Given the description of an element on the screen output the (x, y) to click on. 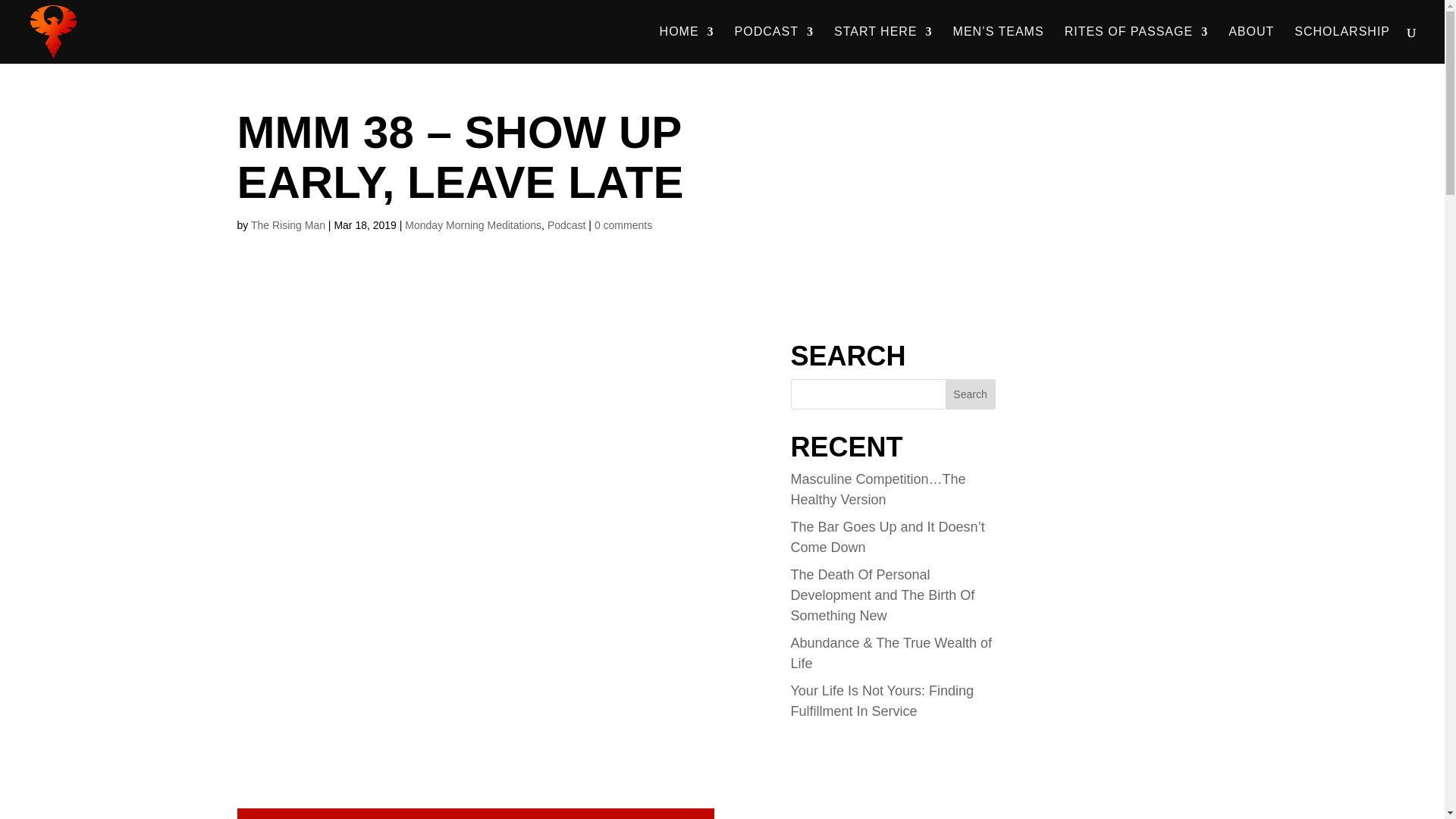
RITES OF PASSAGE (1136, 44)
Search (969, 394)
ABOUT (1251, 44)
Posts by The Rising Man (287, 224)
Search (969, 394)
SCHOLARSHIP (1342, 44)
HOME (686, 44)
Your Life Is Not Yours: Finding Fulfillment In Service (882, 701)
Monday Morning Meditations (472, 224)
0 comments (623, 224)
